Given the description of an element on the screen output the (x, y) to click on. 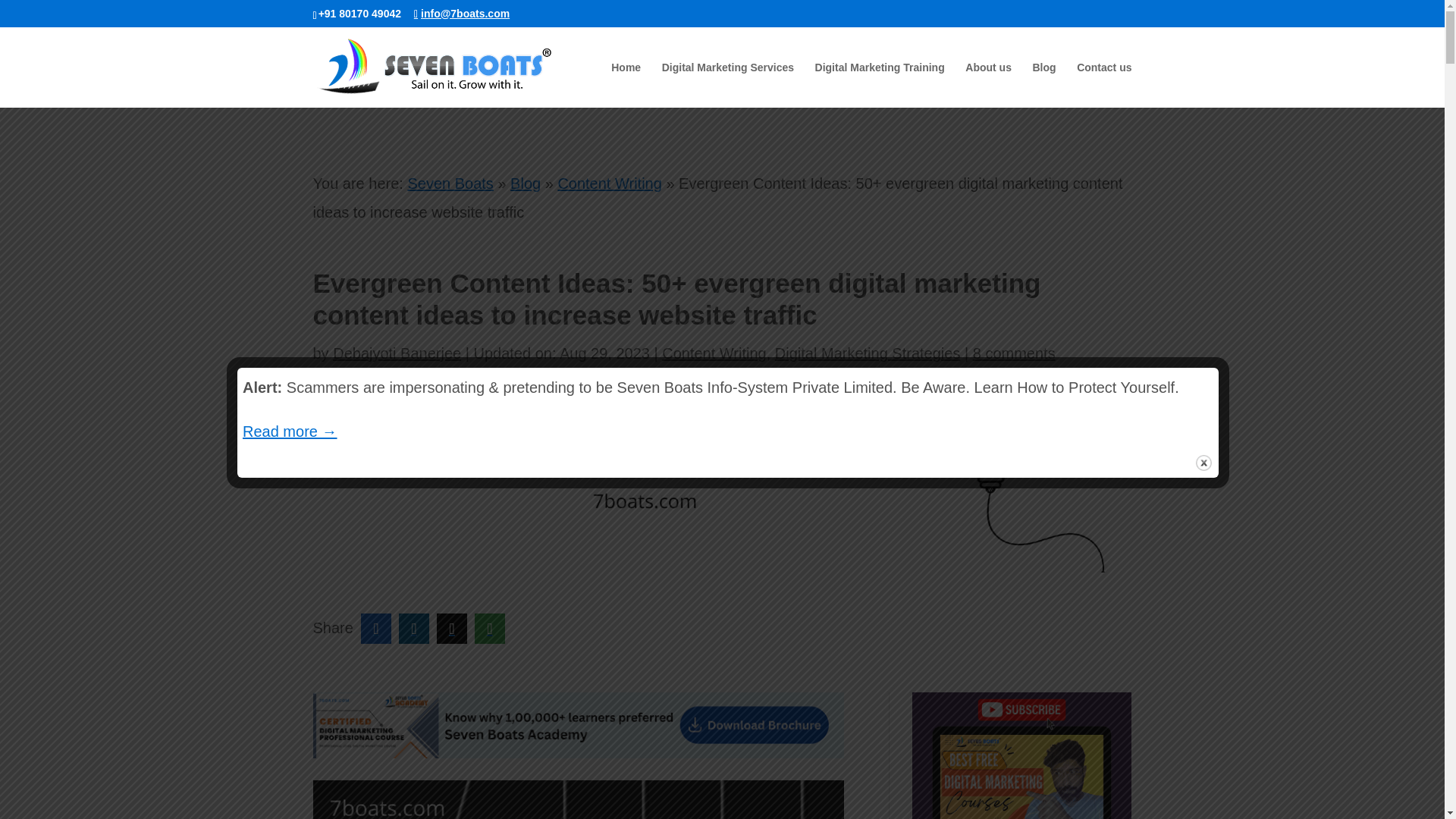
Debajyoti Banerjee (397, 352)
Blog (525, 183)
Posts by Debajyoti Banerjee (397, 352)
Blog (1043, 84)
Digital Marketing Training (879, 84)
Digital Marketing Strategies (867, 352)
Contact us (1104, 84)
Home (625, 84)
About us (988, 84)
Seven Boats (450, 183)
8 comments (1013, 352)
Digital Marketing Services (727, 84)
Content Writing (609, 183)
Content Writing (713, 352)
